Given the description of an element on the screen output the (x, y) to click on. 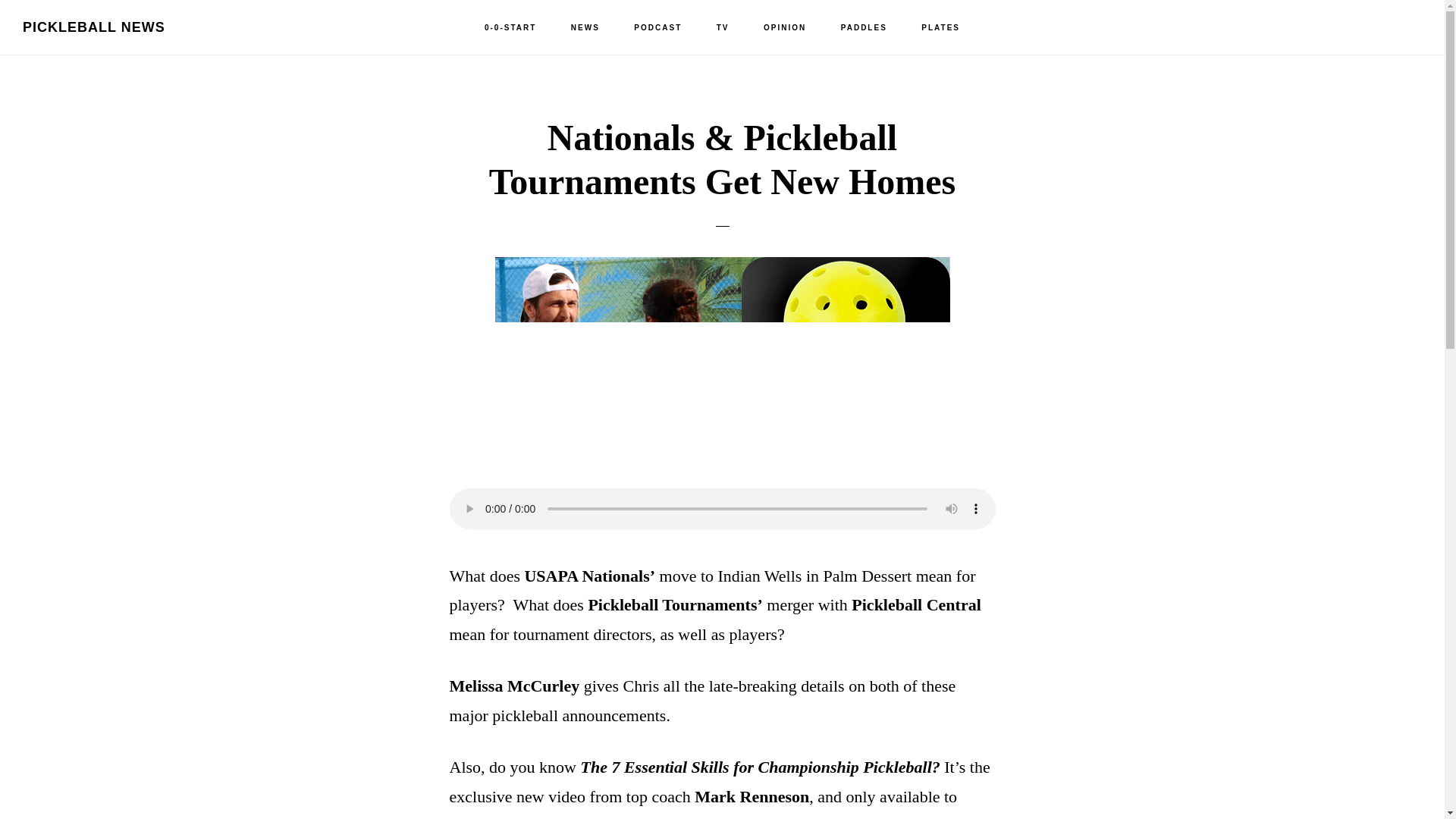
PLATES (940, 27)
PODCAST (657, 27)
PICKLEBALL NEWS (94, 27)
OPINION (784, 27)
Click Here (662, 817)
0-0-START (509, 27)
NEWS (585, 27)
PADDLES (863, 27)
